Given the description of an element on the screen output the (x, y) to click on. 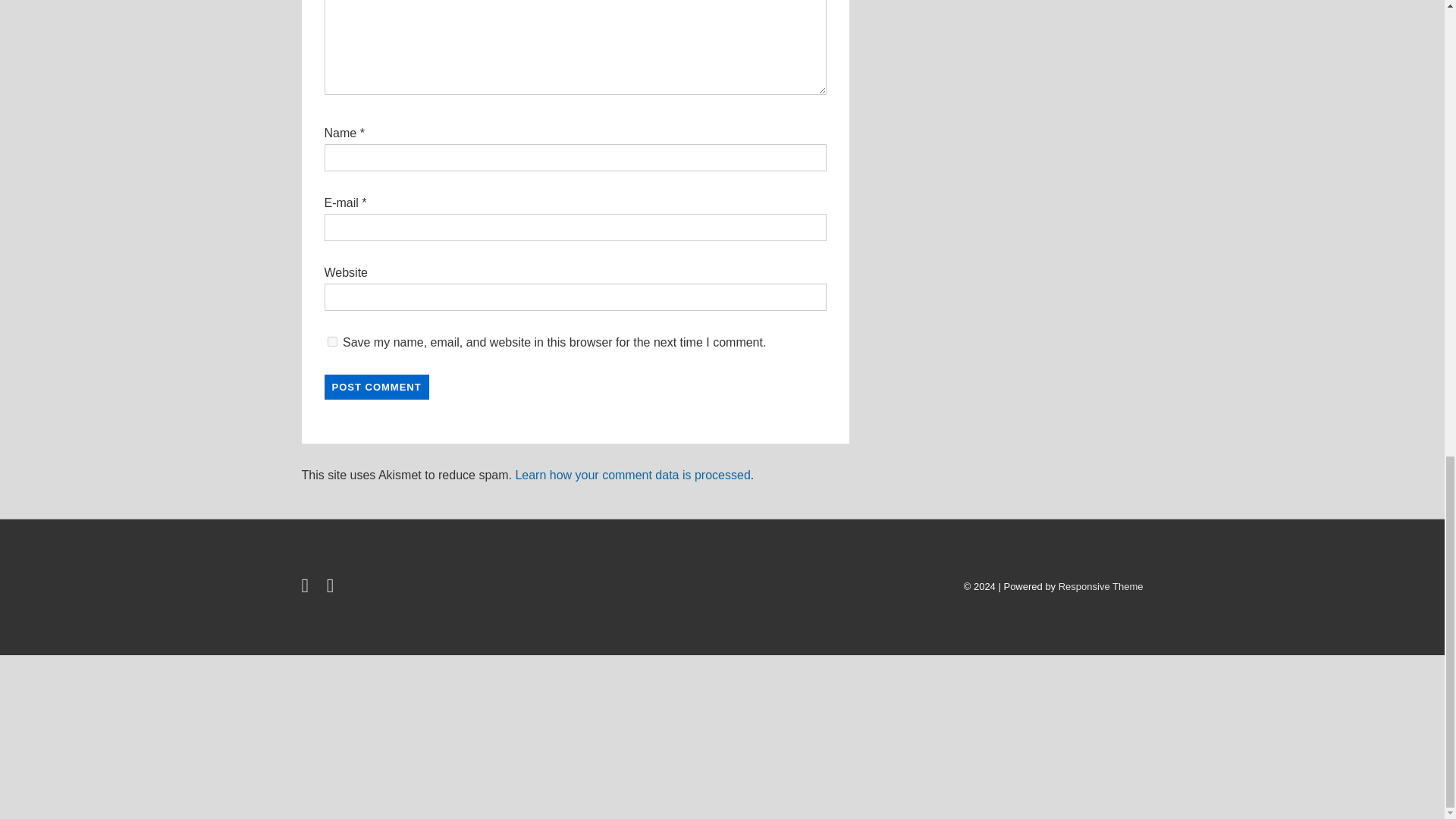
Post Comment (376, 386)
linkedin (331, 588)
twitter (308, 588)
yes (332, 341)
